Given the description of an element on the screen output the (x, y) to click on. 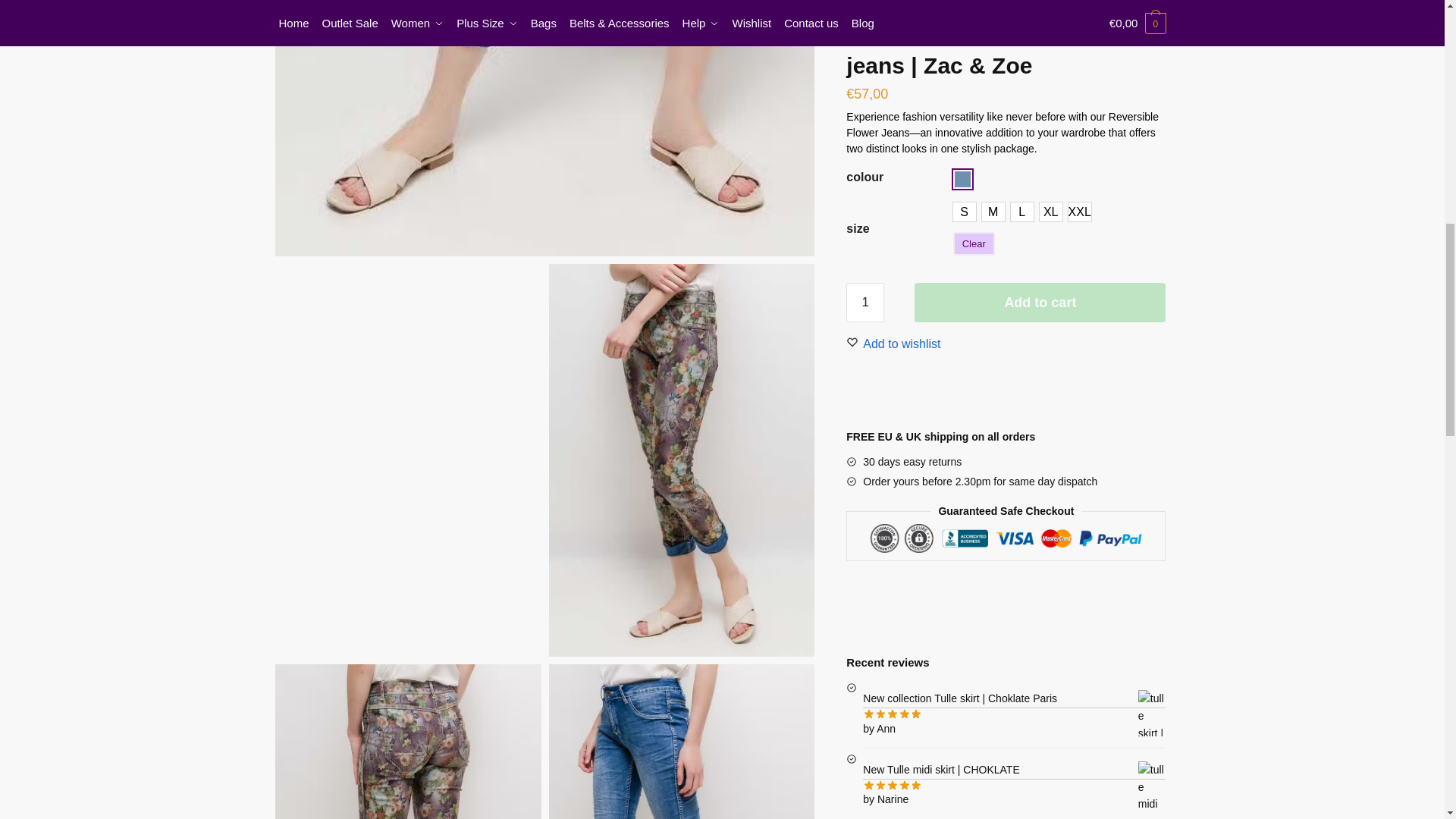
click to zoom-in (408, 741)
click to zoom-in (681, 741)
